Given the description of an element on the screen output the (x, y) to click on. 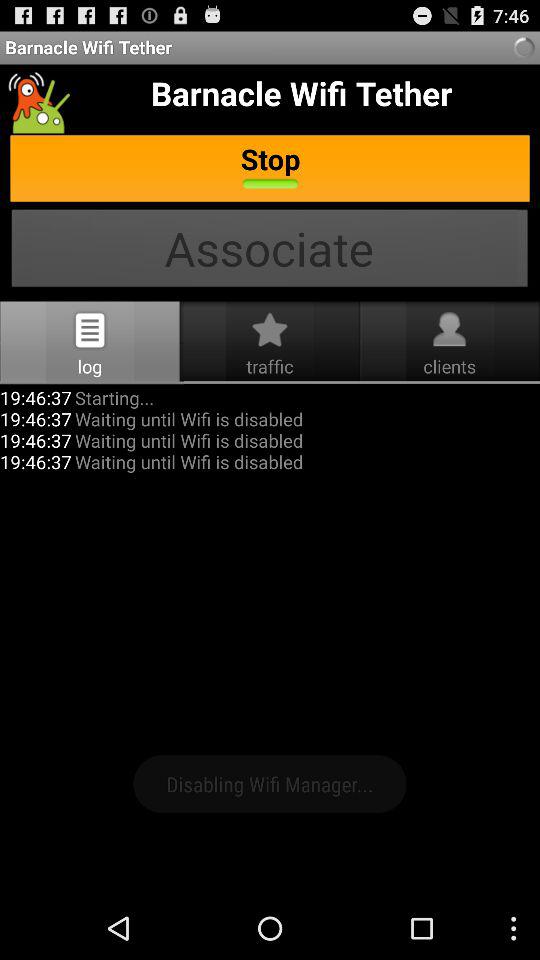
tap the profile icon which is just above clients (449, 330)
select the star icon which is just above the traffic (269, 330)
select the icon which is just below the barnacle wifi tether (38, 102)
